Given the description of an element on the screen output the (x, y) to click on. 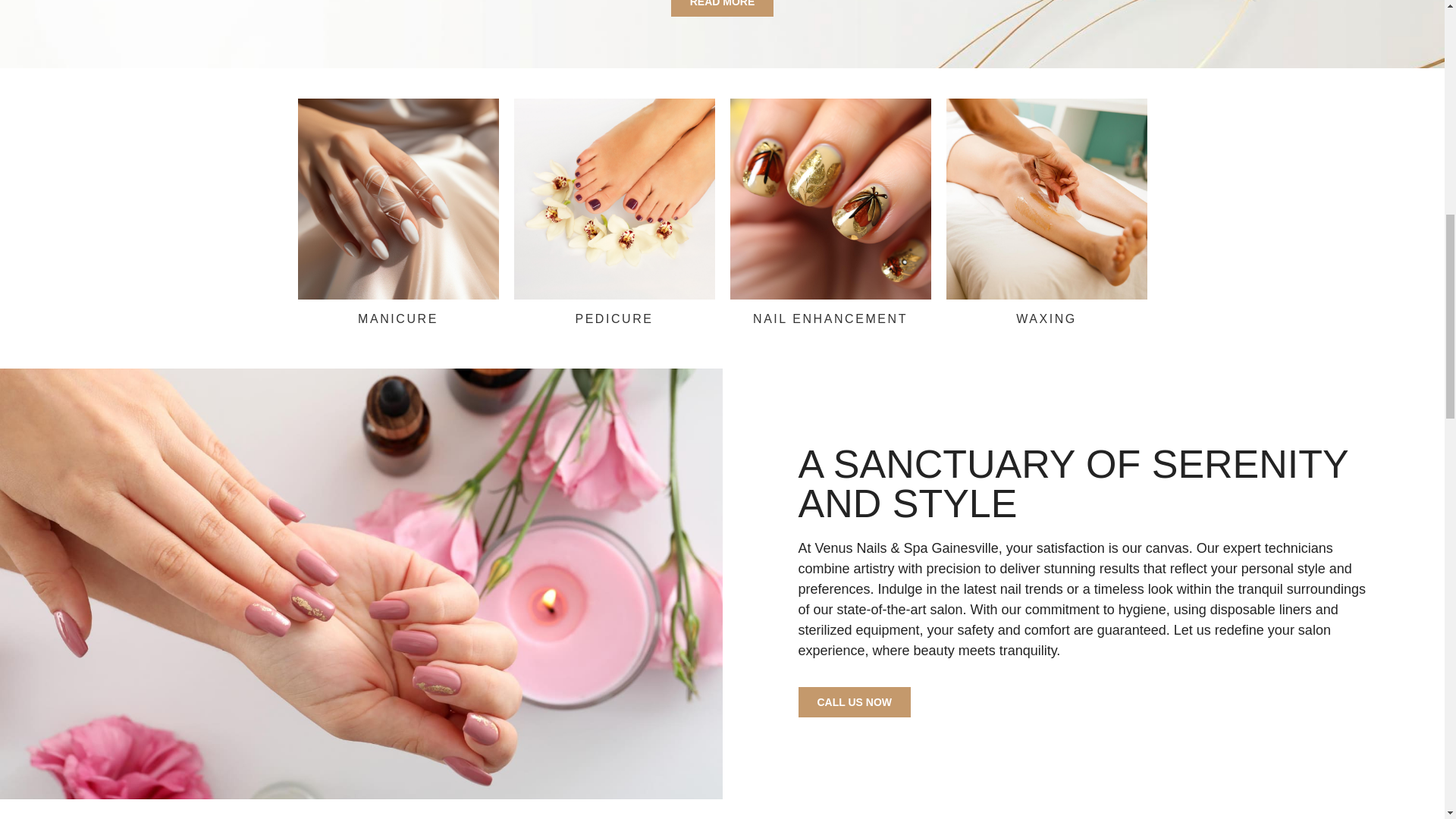
PEDICURE (613, 318)
WAXING (1046, 318)
CALL US NOW (854, 702)
READ MORE (722, 8)
NAIL ENHANCEMENT (829, 318)
MANICURE (398, 318)
